Given the description of an element on the screen output the (x, y) to click on. 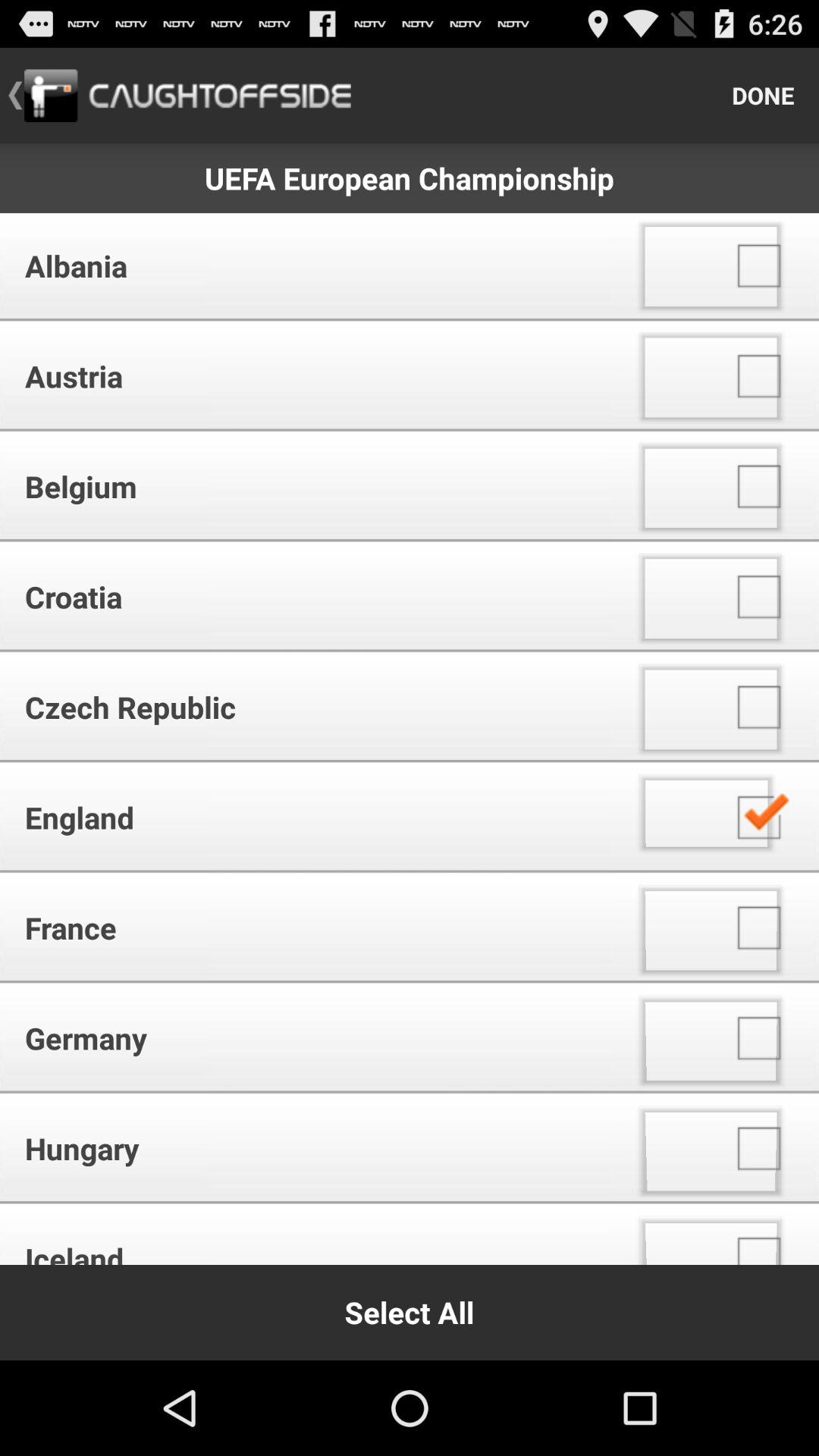
turn on icon below england item (311, 927)
